Given the description of an element on the screen output the (x, y) to click on. 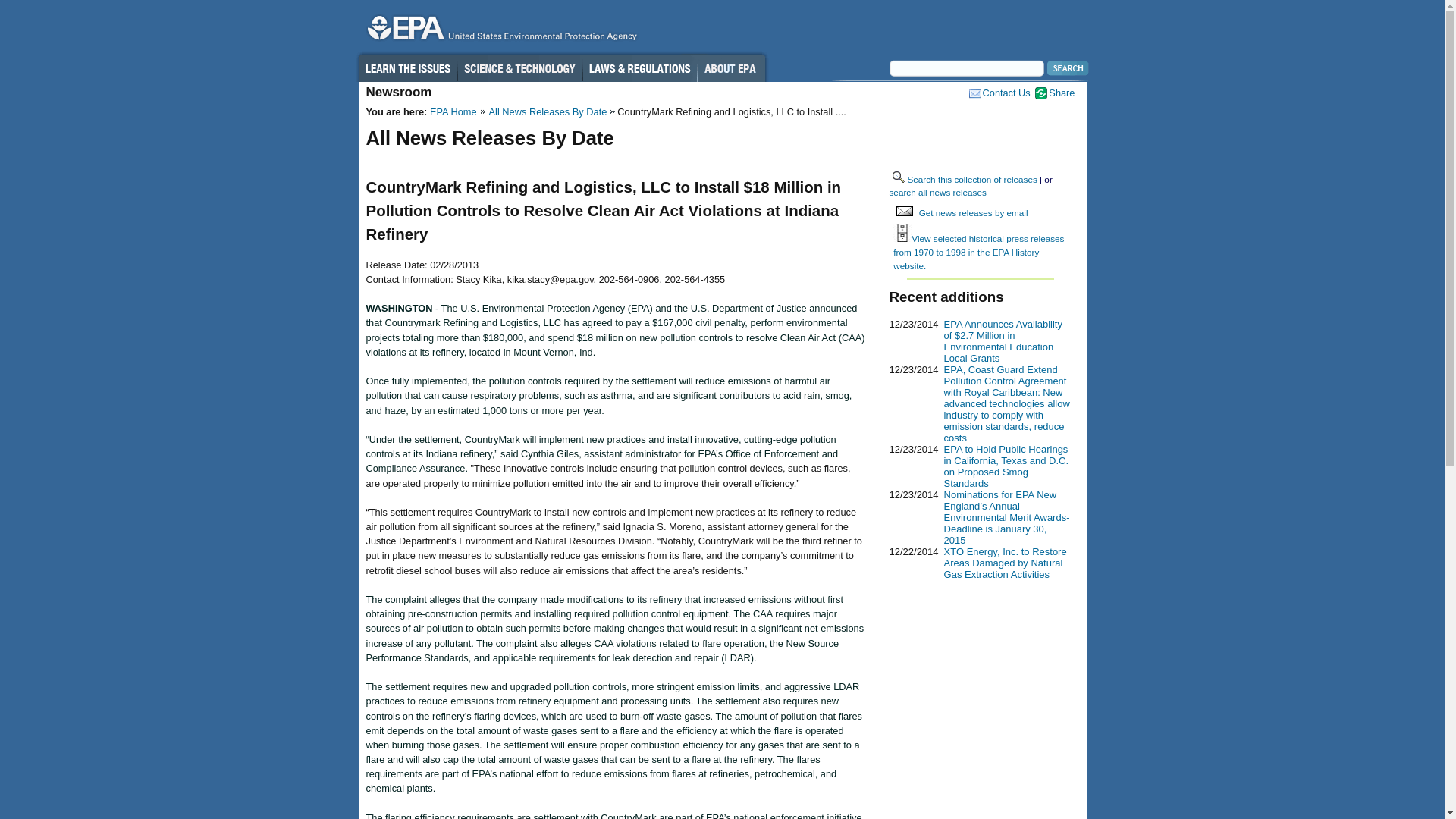
Science and Technology (518, 68)
US EPA Home Page (499, 31)
Learn the Issues (407, 68)
Laws and Regulations (639, 68)
About EPA (731, 68)
About EPA (731, 68)
Learn the Issues (407, 68)
